Given the description of an element on the screen output the (x, y) to click on. 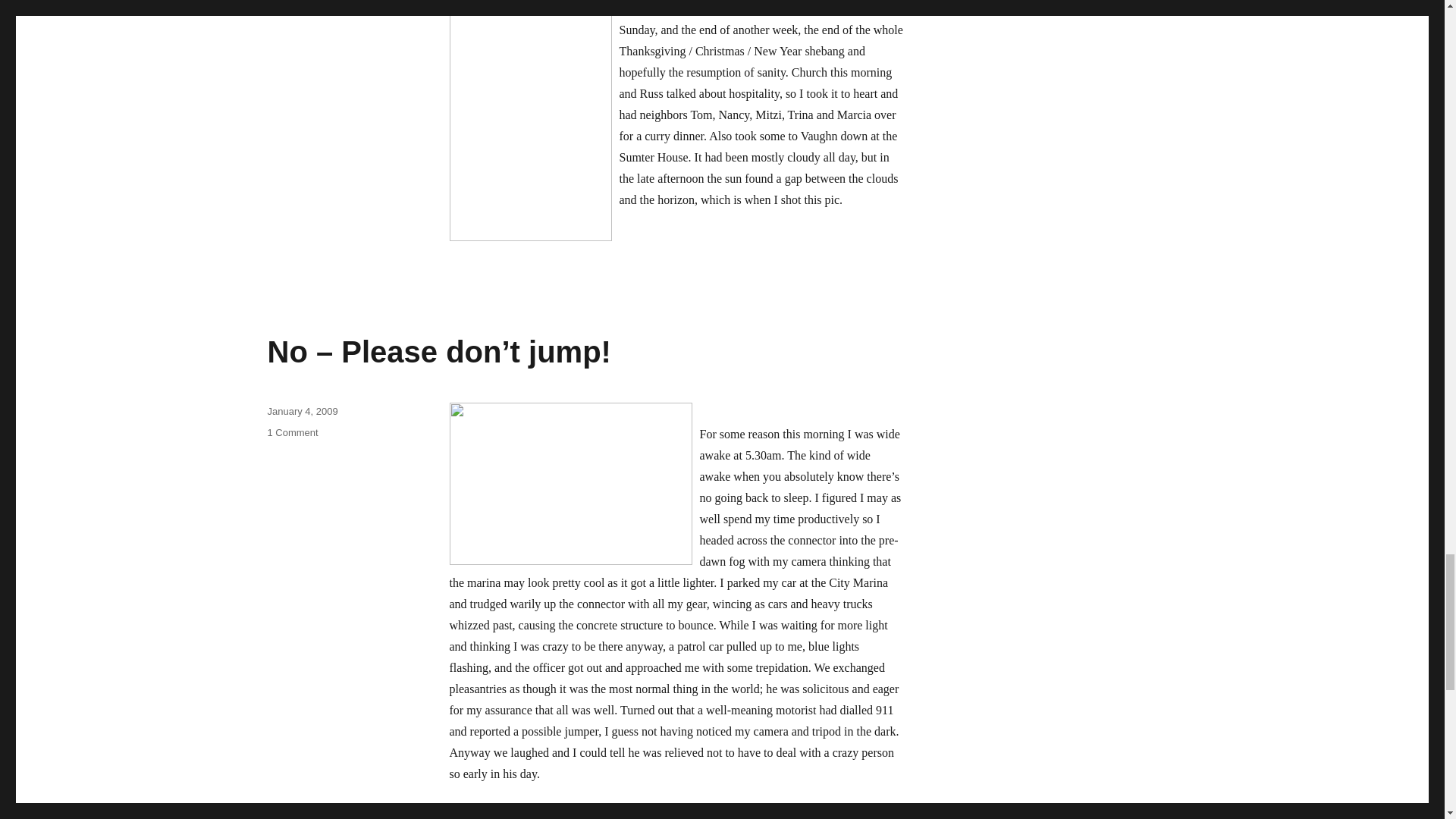
January 5, 2009 (301, 7)
